Given the description of an element on the screen output the (x, y) to click on. 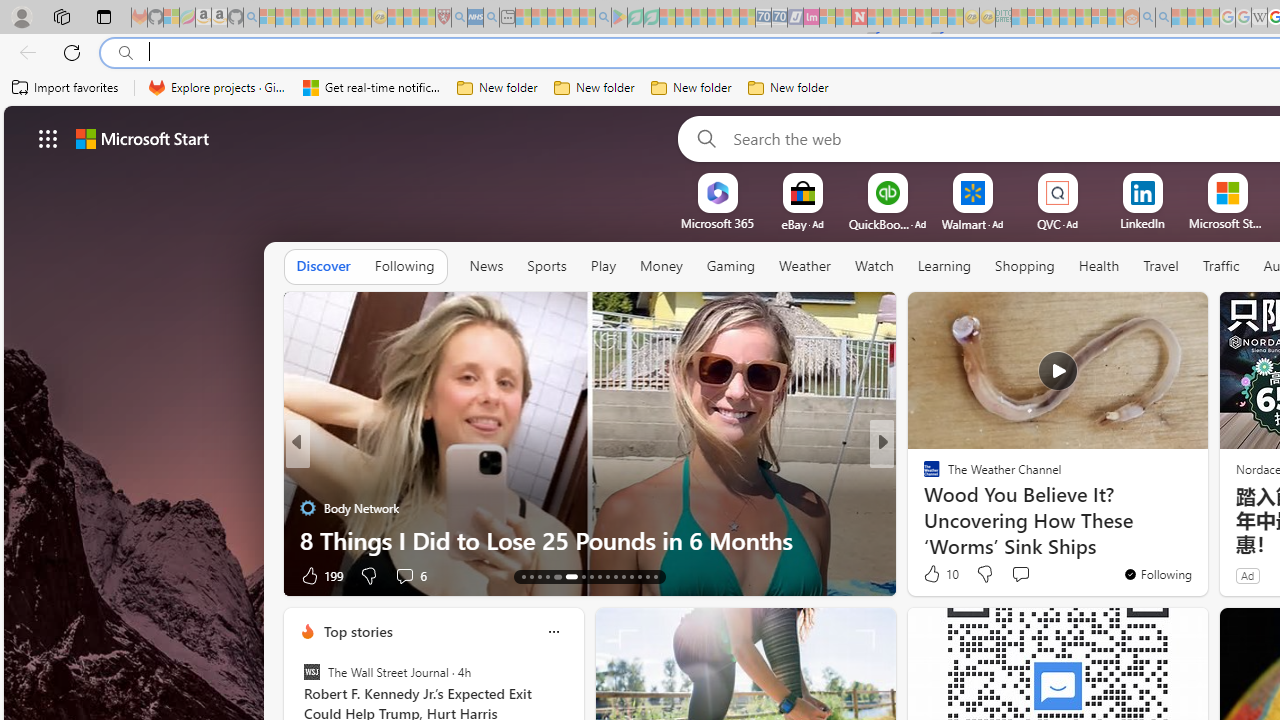
View comments 10 Comment (1029, 574)
2 Like (930, 574)
New folder (788, 88)
AutomationID: tab-25 (631, 576)
App launcher (47, 138)
Pets - MSN - Sleeping (571, 17)
EatingWell (923, 475)
View comments 10 Comment (1019, 575)
View comments 18 Comment (1029, 574)
